Given the description of an element on the screen output the (x, y) to click on. 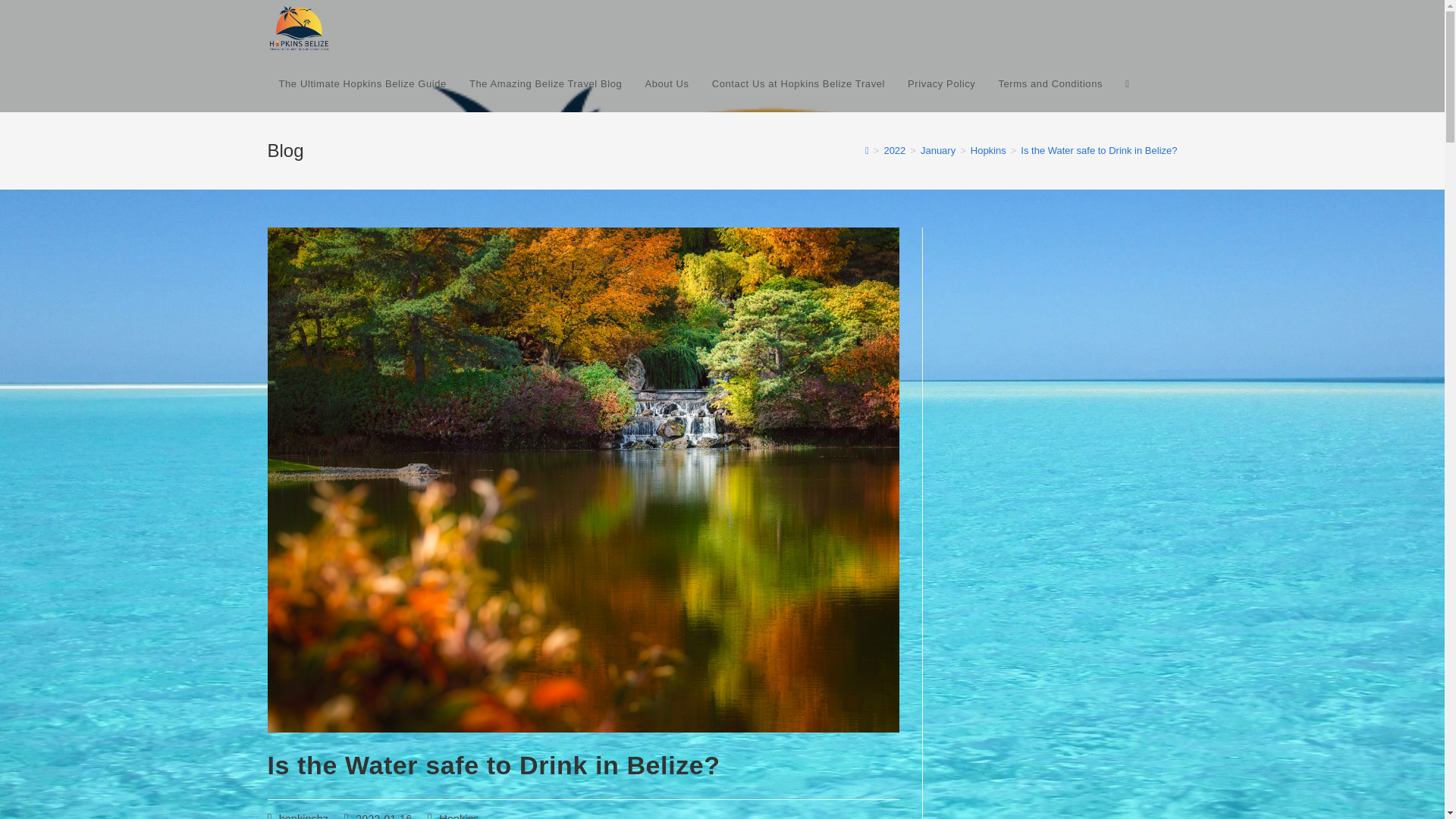
January (937, 150)
Hopkins (988, 150)
2022 (894, 150)
hopkinsbz (304, 816)
Terms and Conditions (1050, 84)
Is the Water safe to Drink in Belize? (1098, 150)
The Ultimate Hopkins Belize Guide (361, 84)
About Us (666, 84)
Posts by hopkinsbz (304, 816)
Privacy Policy (941, 84)
Contact Us at Hopkins Belize Travel (798, 84)
Hopkins (459, 816)
The Amazing Belize Travel Blog (545, 84)
